Given the description of an element on the screen output the (x, y) to click on. 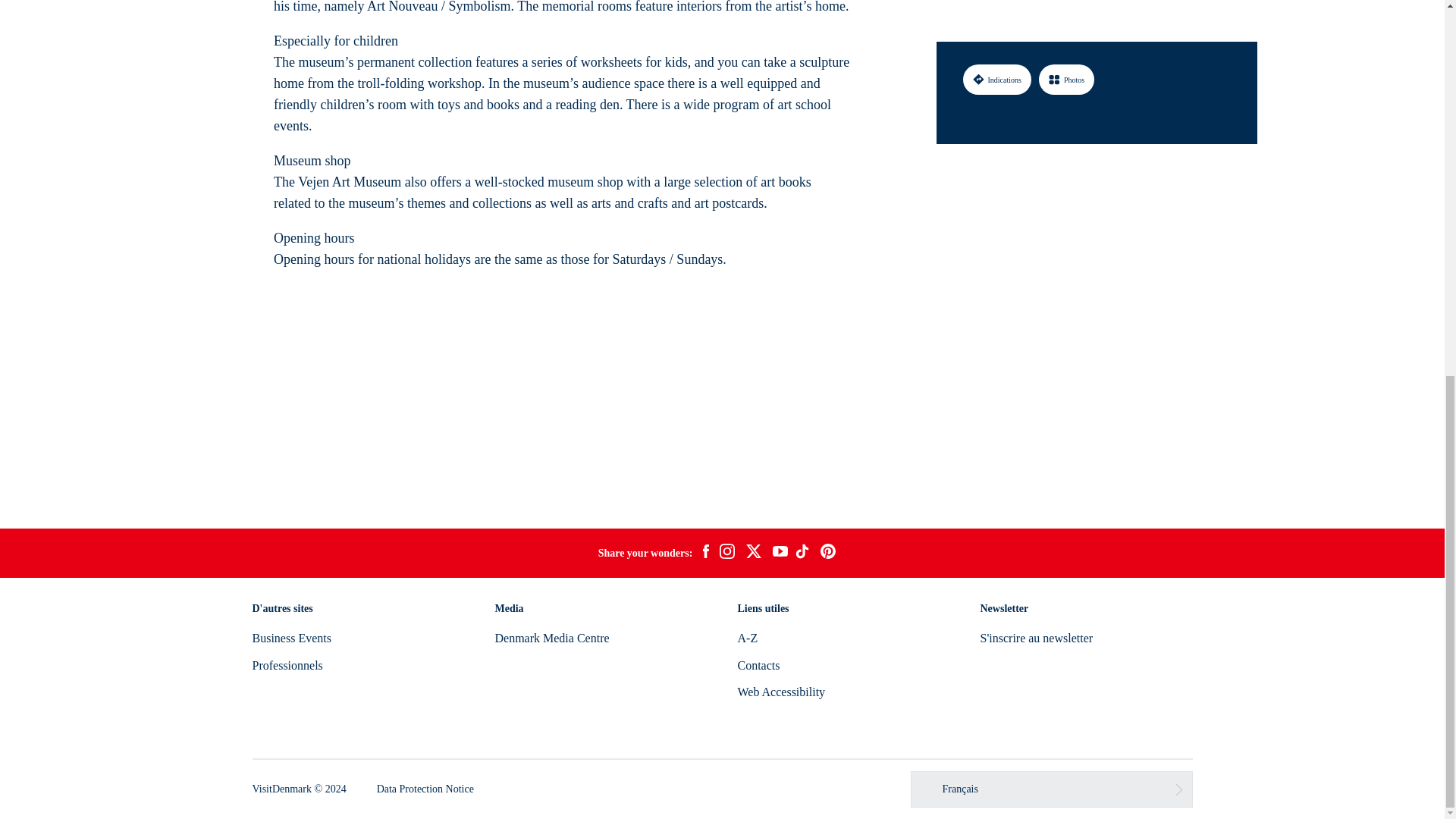
Business Events (290, 637)
twitter (753, 553)
Web Accessibility (780, 691)
Web Accessibility (780, 691)
Data Protection Notice (425, 789)
youtube (780, 553)
Professionnels (286, 665)
Contacts (757, 665)
Business Events (290, 637)
facebook (705, 553)
tiktok (804, 553)
pinterest (828, 553)
A-Z (746, 637)
A-Z (746, 637)
Denmark Media Centre (551, 637)
